Given the description of an element on the screen output the (x, y) to click on. 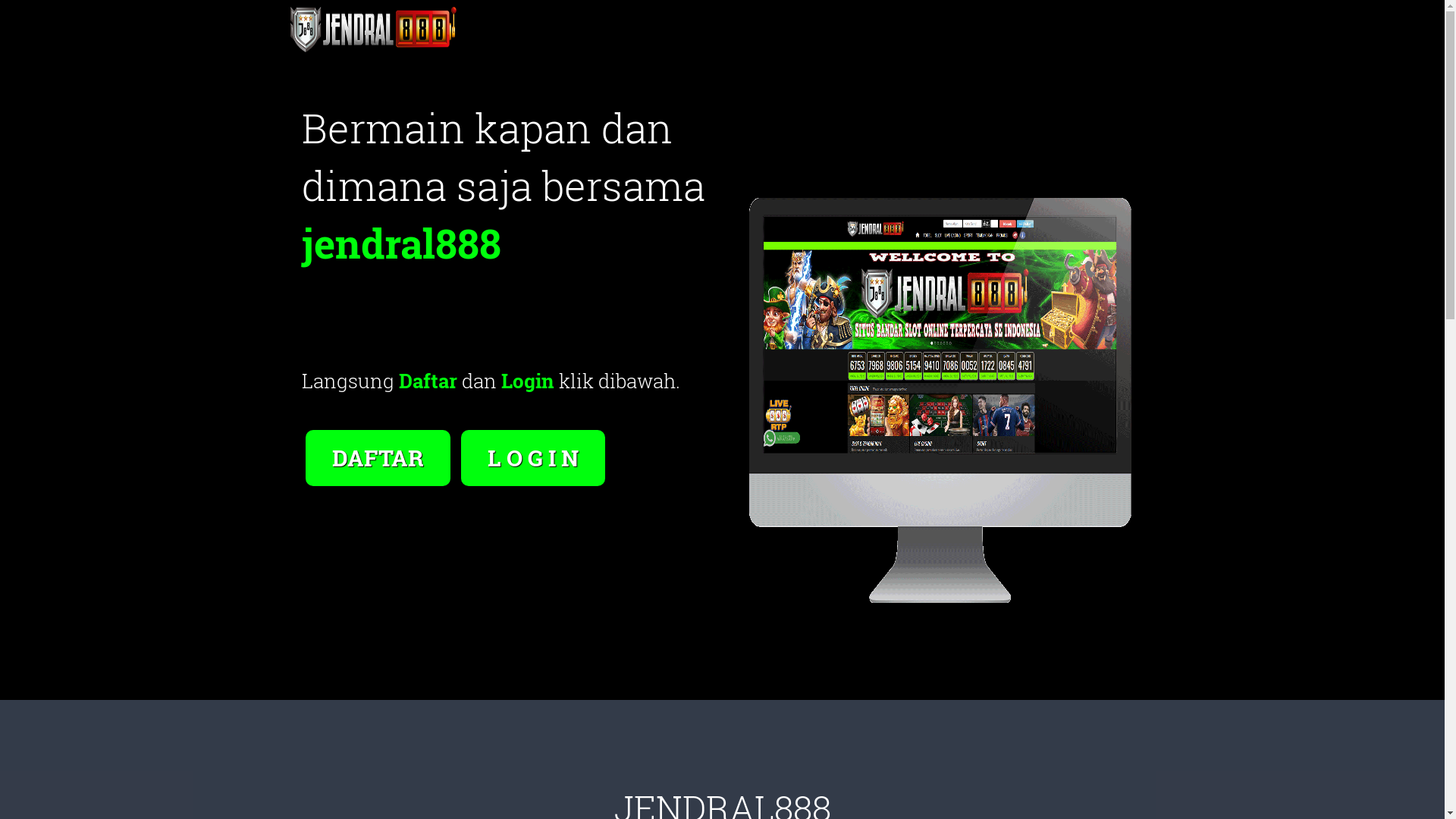
DAFTAR Element type: text (376, 457)
DAFTAR Element type: text (379, 441)
L O G I N Element type: text (533, 457)
L O G I N Element type: text (532, 441)
